Given the description of an element on the screen output the (x, y) to click on. 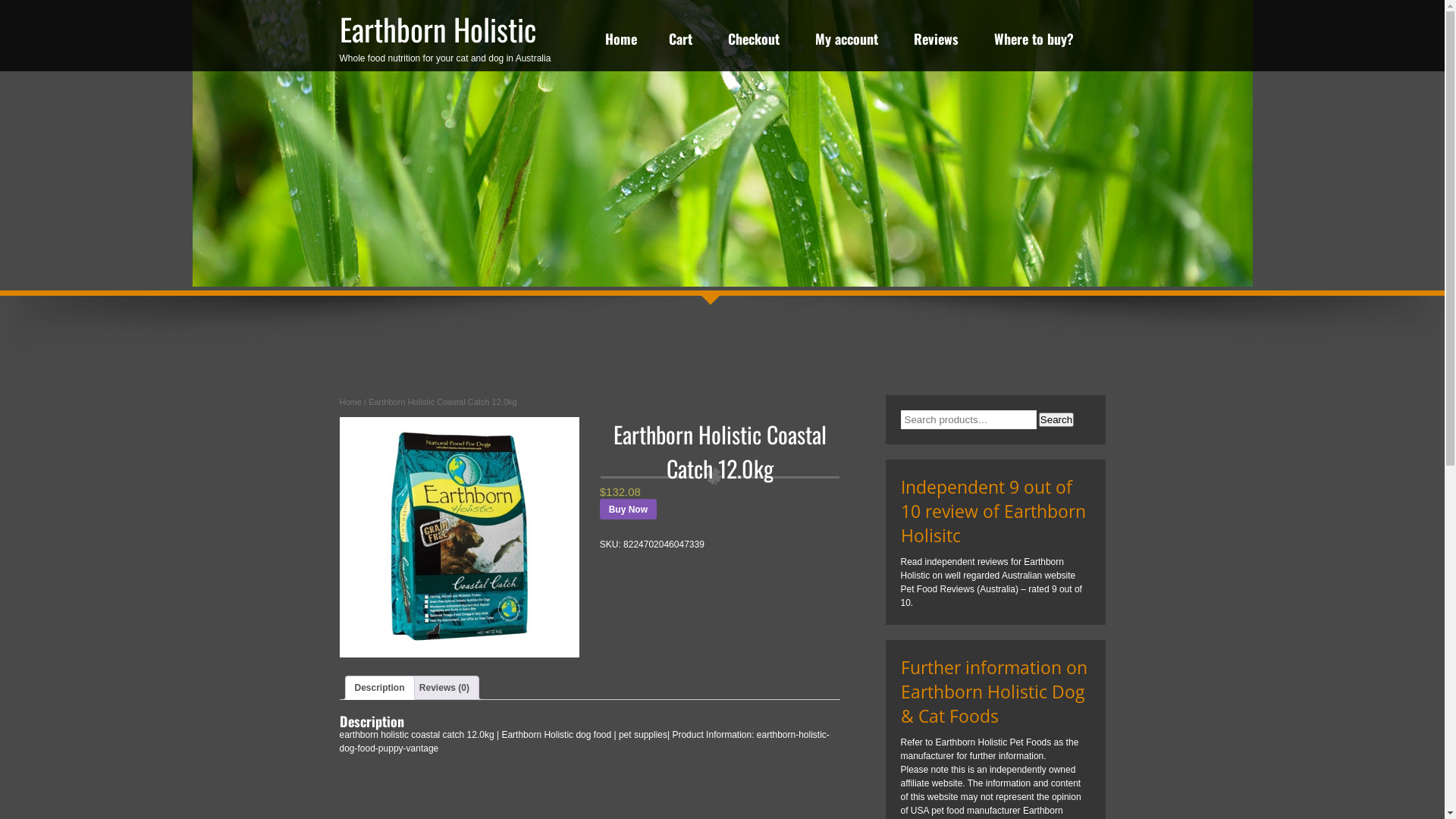
Description Element type: text (379, 687)
Cart Element type: text (680, 42)
Where to buy? Element type: text (1033, 42)
Earthborn Holistic Pet Foods Element type: text (993, 742)
Checkout Element type: text (753, 42)
Earthborn Holistic Coastal Catch 12.0kg Element type: hover (459, 537)
My account Element type: text (845, 42)
Home Element type: text (621, 42)
Home Element type: text (350, 401)
Reviews Element type: text (935, 42)
Search Element type: text (1055, 419)
Reviews (0) Element type: text (444, 687)
Buy Now Element type: text (627, 508)
